Given the description of an element on the screen output the (x, y) to click on. 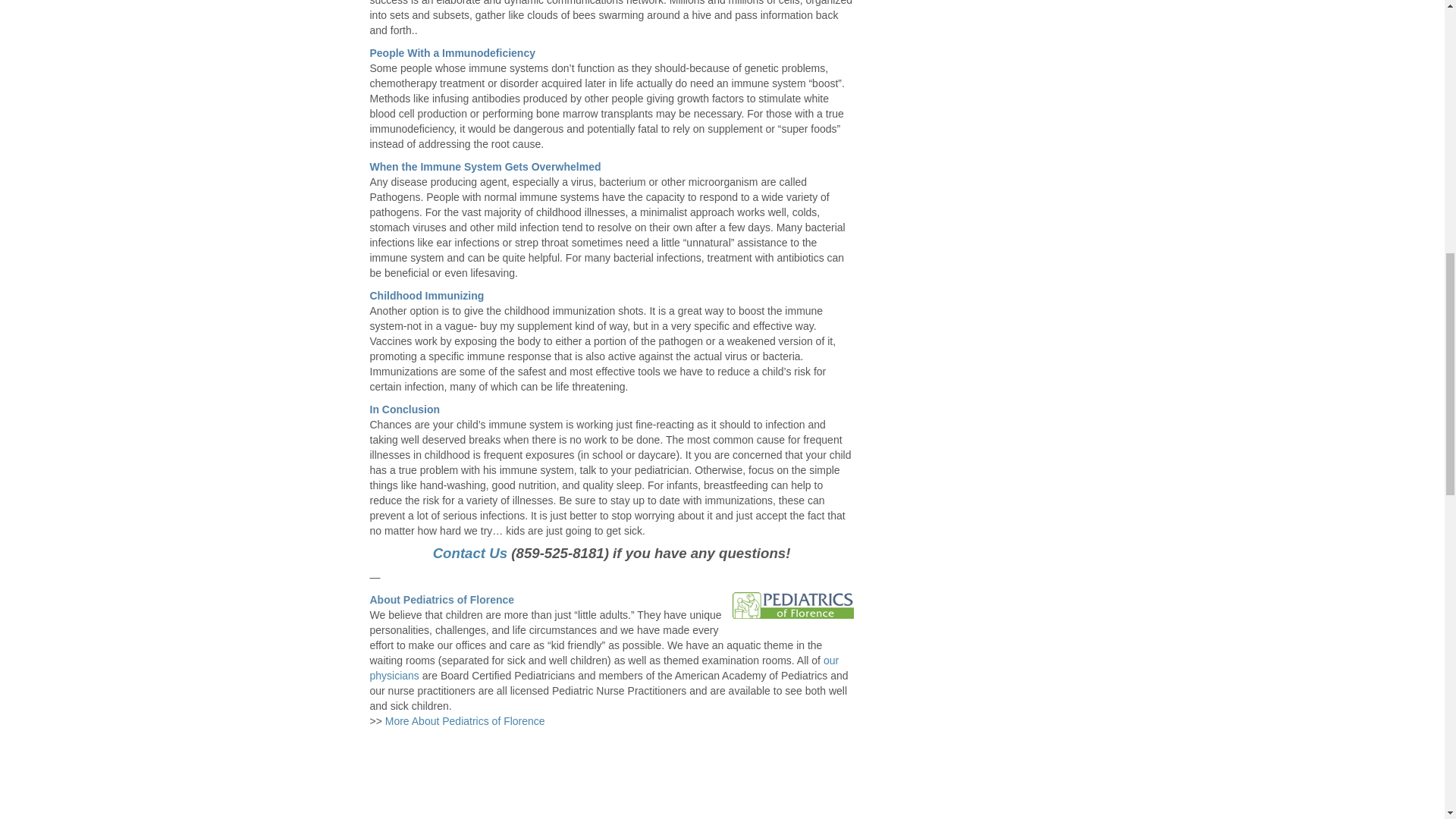
Our Staff (604, 667)
